Given the description of an element on the screen output the (x, y) to click on. 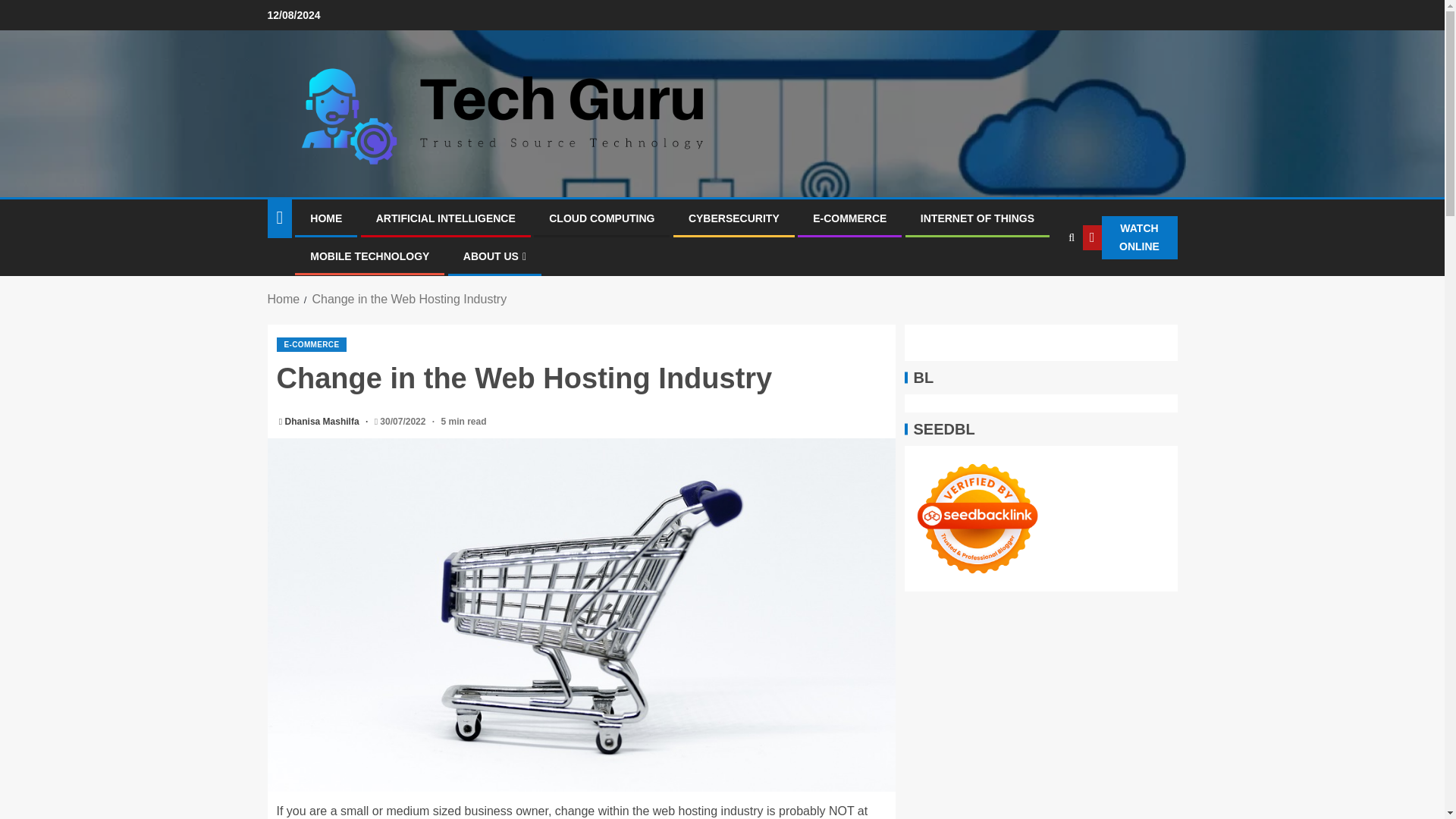
Change in the Web Hosting Industry (408, 298)
Seedbacklink (976, 518)
Search (1039, 284)
E-COMMERCE (311, 344)
MOBILE TECHNOLOGY (369, 256)
ABOUT US (494, 256)
CYBERSECURITY (733, 218)
HOME (326, 218)
WATCH ONLINE (1130, 238)
